Given the description of an element on the screen output the (x, y) to click on. 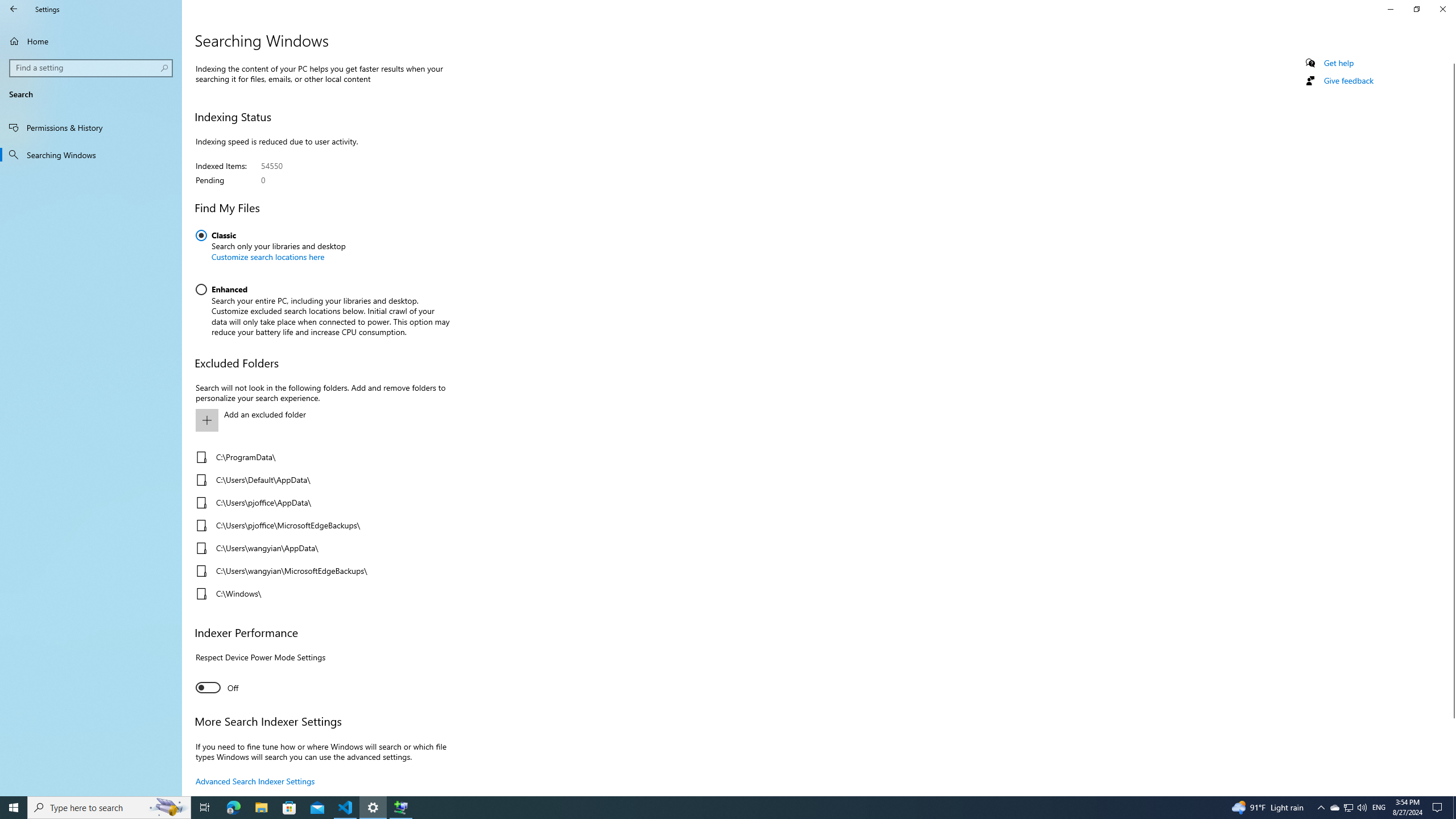
Vertical (1451, 425)
C:\Users\wangyian\MicrosoftEdgeBackups\ (319, 570)
C:\Windows\ (319, 593)
Microsoft Store (289, 807)
